Given the description of an element on the screen output the (x, y) to click on. 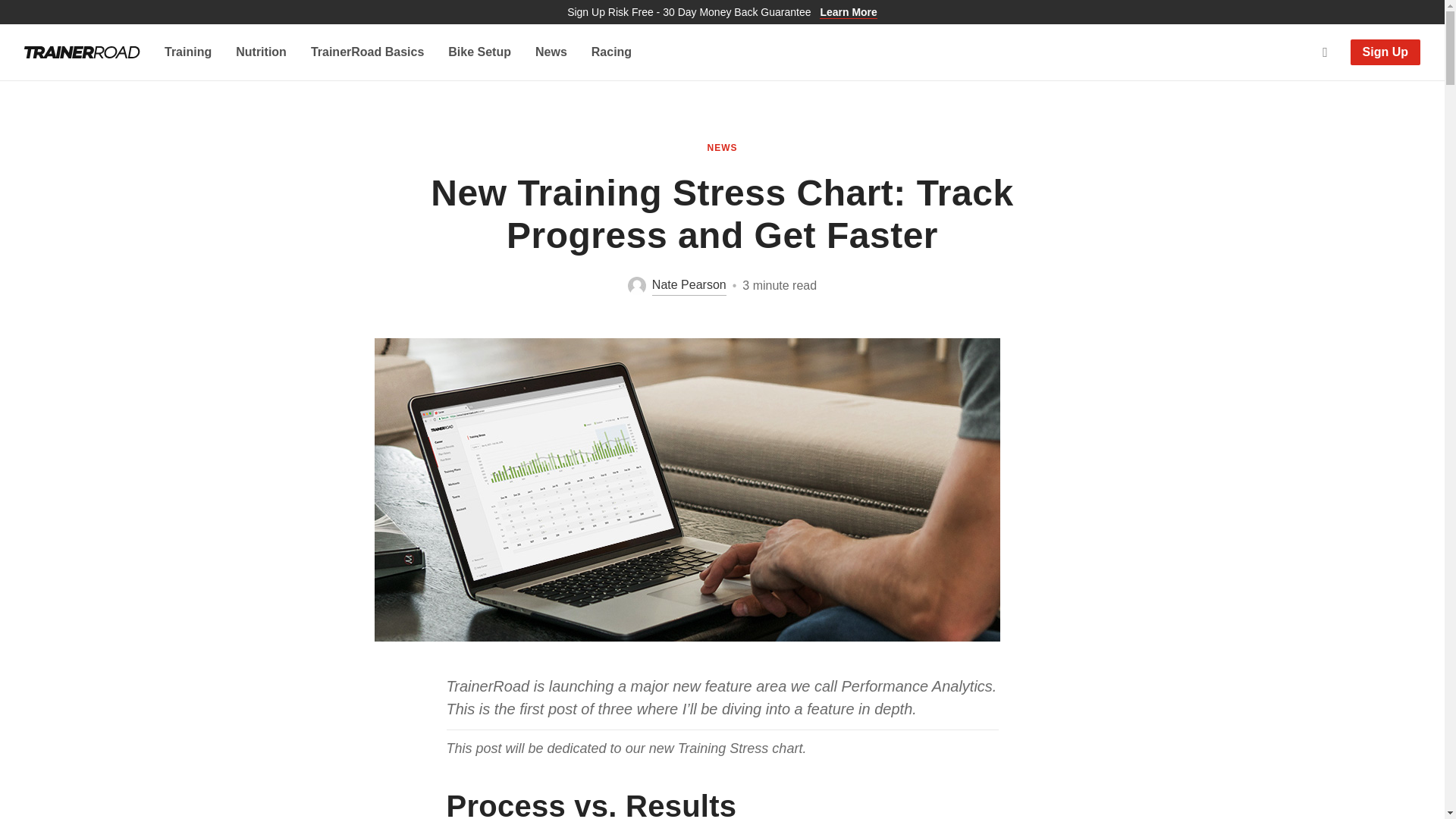
Sign Up (1386, 52)
Nate Pearson (676, 285)
Racing (611, 51)
TrainerRoad Training Blog (81, 51)
NEWS (721, 147)
News (551, 51)
Bike Setup (479, 51)
Training (187, 51)
Nutrition (260, 51)
TrainerRoad Basics (367, 51)
